Given the description of an element on the screen output the (x, y) to click on. 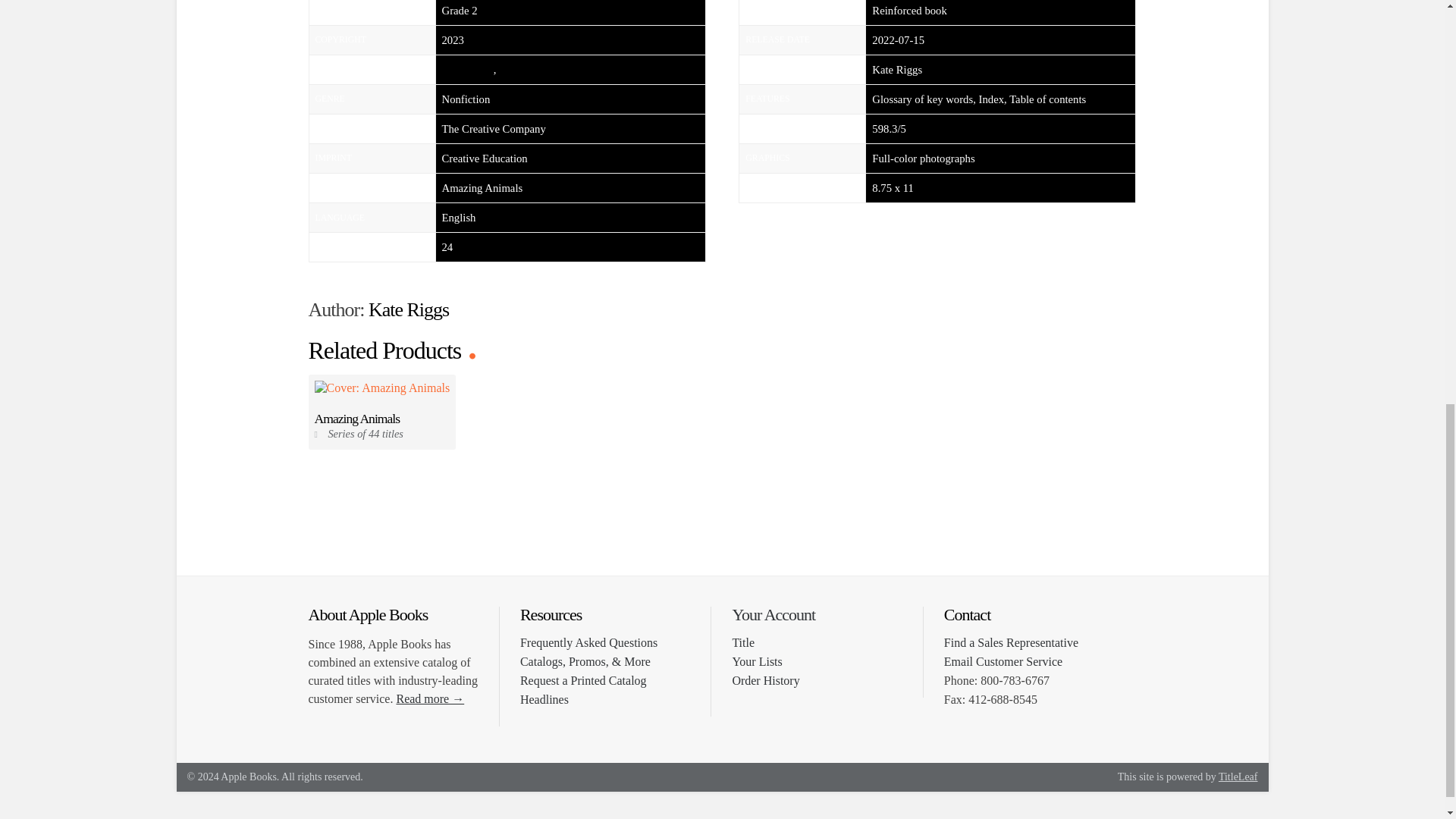
translation missing: en.shop.cart.title (743, 642)
